Given the description of an element on the screen output the (x, y) to click on. 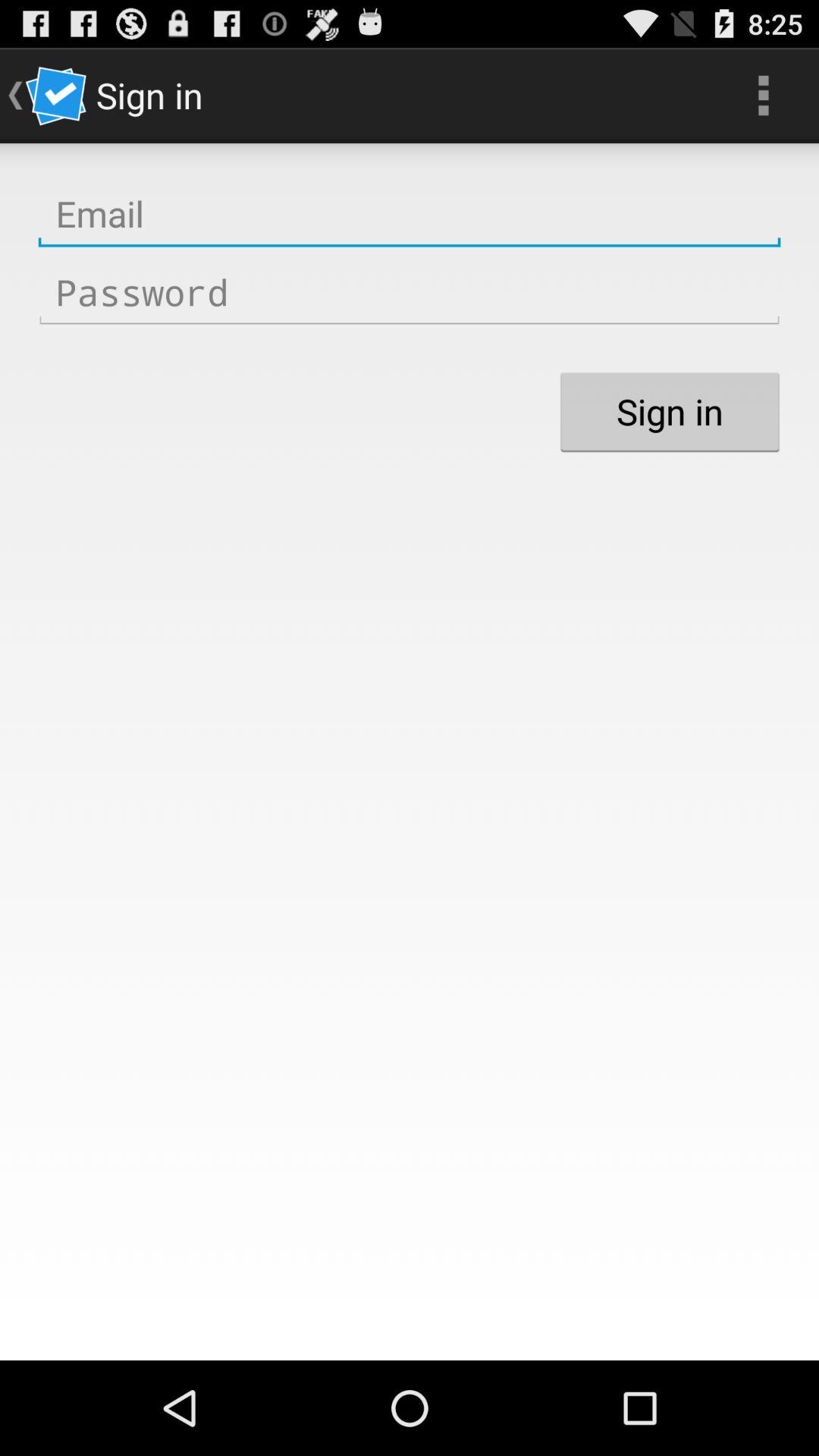
select app to the right of the sign in icon (763, 95)
